Given the description of an element on the screen output the (x, y) to click on. 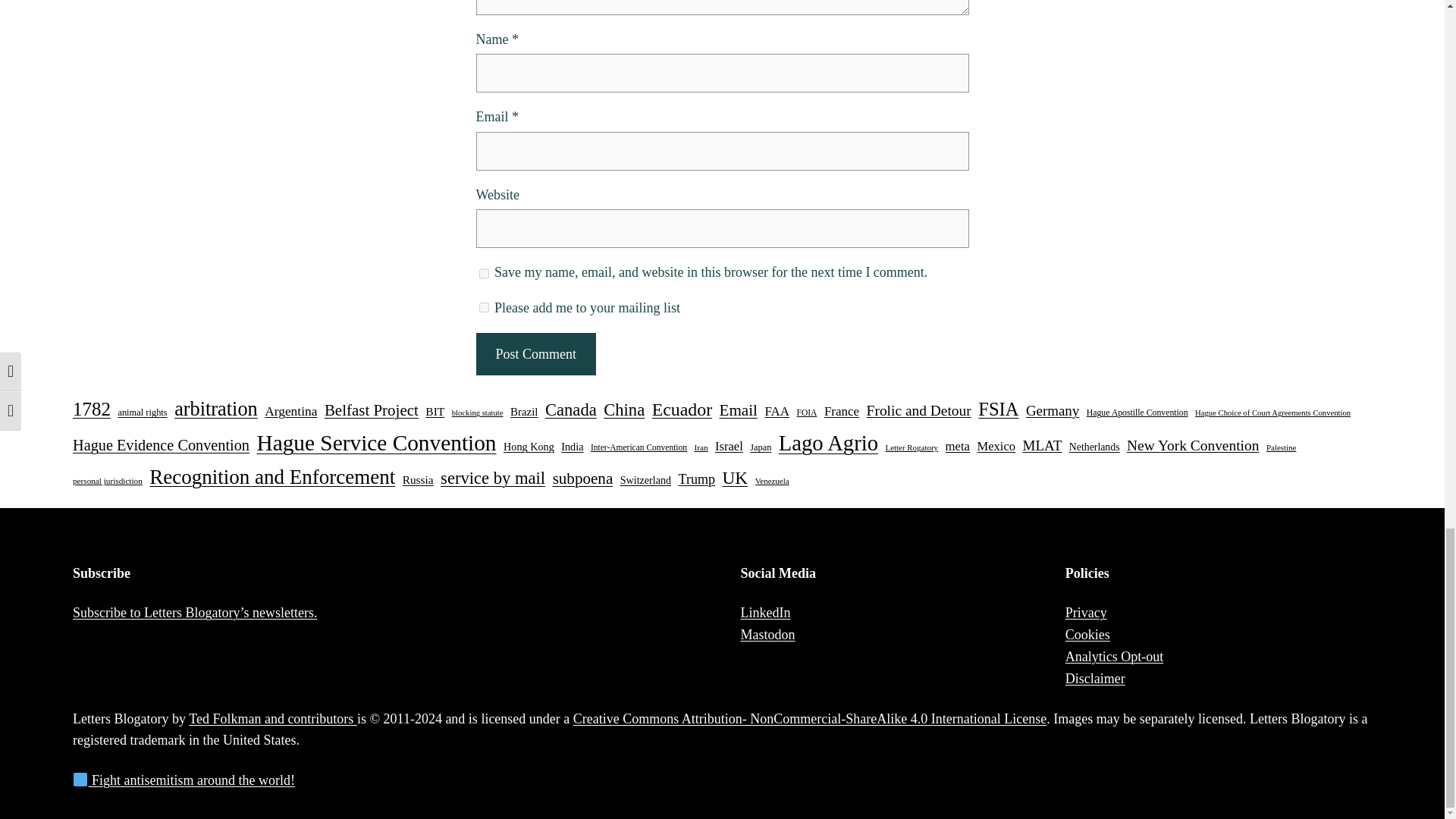
1 (484, 307)
Post Comment (535, 353)
